Given the description of an element on the screen output the (x, y) to click on. 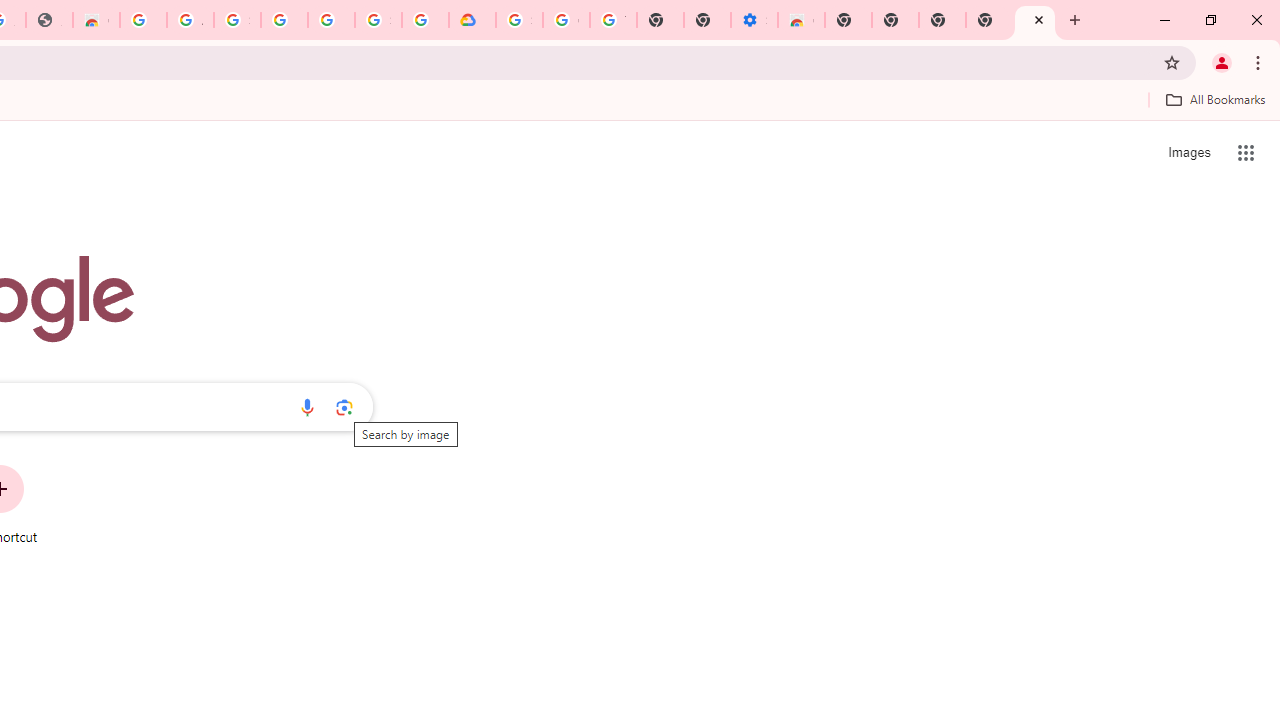
Settings - Accessibility (754, 20)
Sign in - Google Accounts (518, 20)
Ad Settings (189, 20)
New Tab (1035, 20)
Sign in - Google Accounts (377, 20)
